Given the description of an element on the screen output the (x, y) to click on. 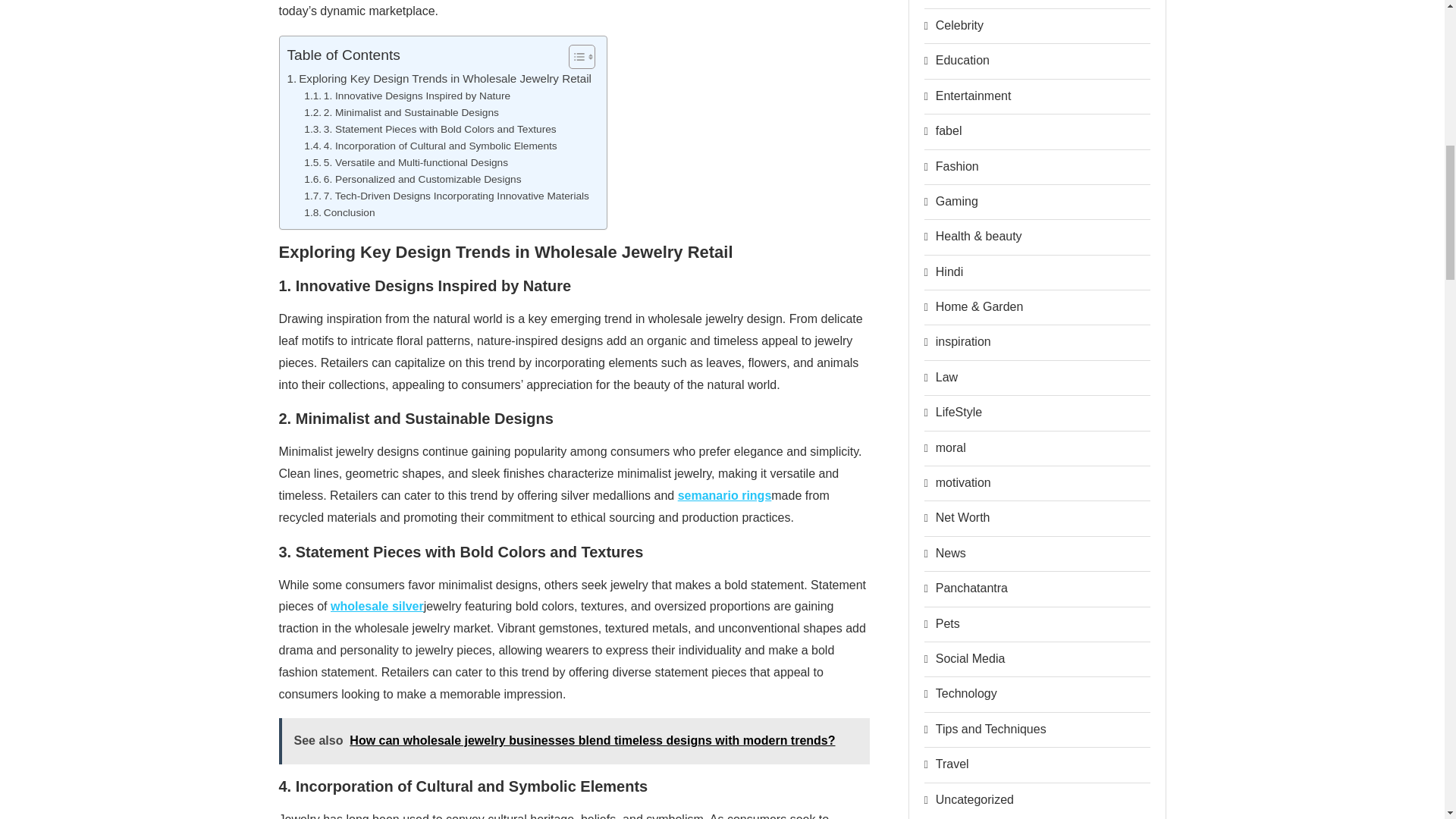
3. Statement Pieces with Bold Colors and Textures (430, 129)
4. Incorporation of Cultural and Symbolic Elements (430, 146)
3. Statement Pieces with Bold Colors and Textures (430, 129)
2. Minimalist and Sustainable Designs (401, 112)
7. Tech-Driven Designs Incorporating Innovative Materials (446, 196)
Exploring Key Design Trends in Wholesale Jewelry Retail (438, 78)
Exploring Key Design Trends in Wholesale Jewelry Retail (438, 78)
Conclusion (339, 212)
wholesale silver (376, 605)
semanario rings (724, 495)
1. Innovative Designs Inspired by Nature (407, 95)
Conclusion (339, 212)
6. Personalized and Customizable Designs (412, 179)
5. Versatile and Multi-functional Designs (406, 162)
